Given the description of an element on the screen output the (x, y) to click on. 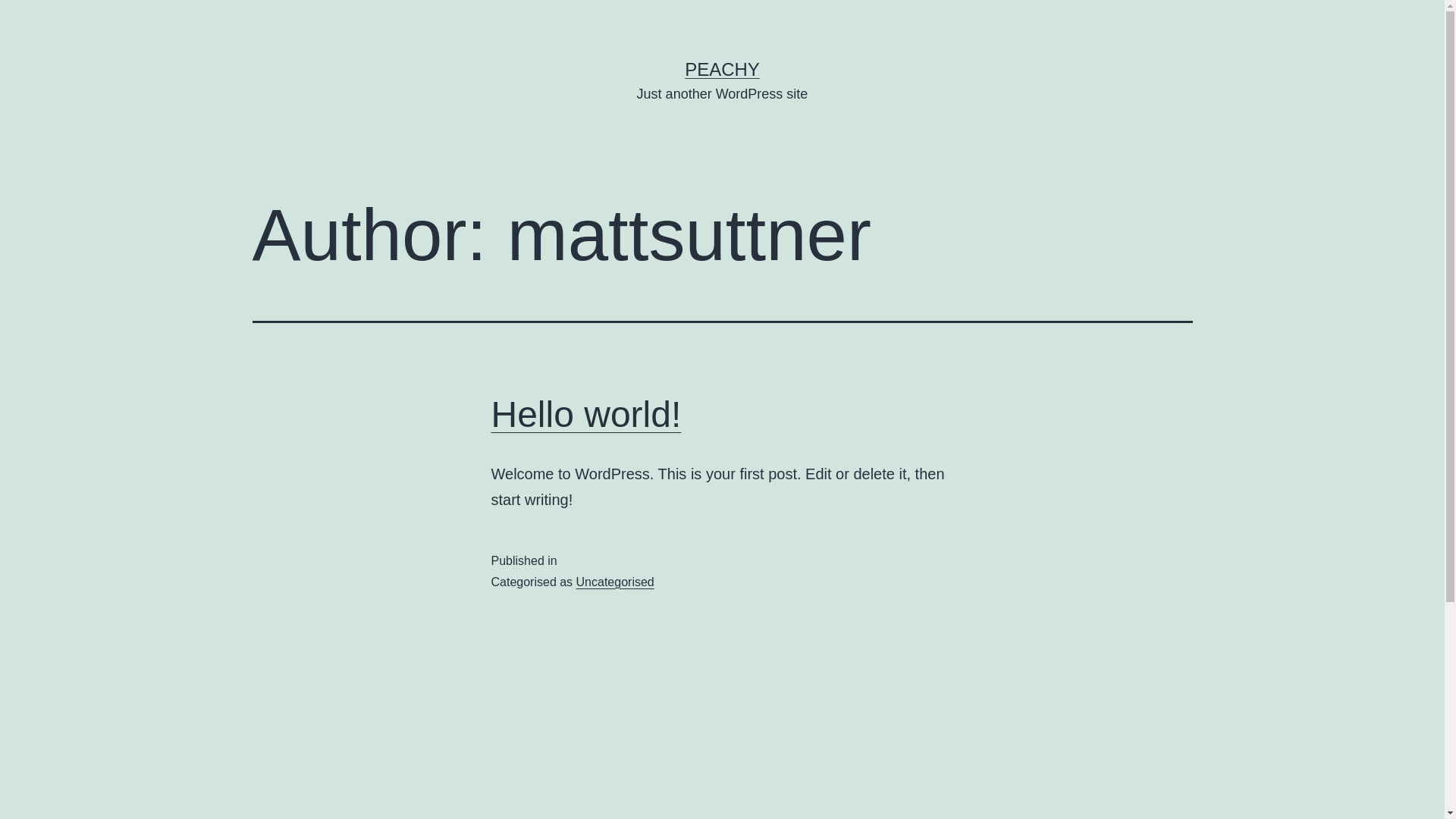
Hello world! Element type: text (586, 414)
Uncategorised Element type: text (615, 581)
PEACHY Element type: text (721, 69)
